Given the description of an element on the screen output the (x, y) to click on. 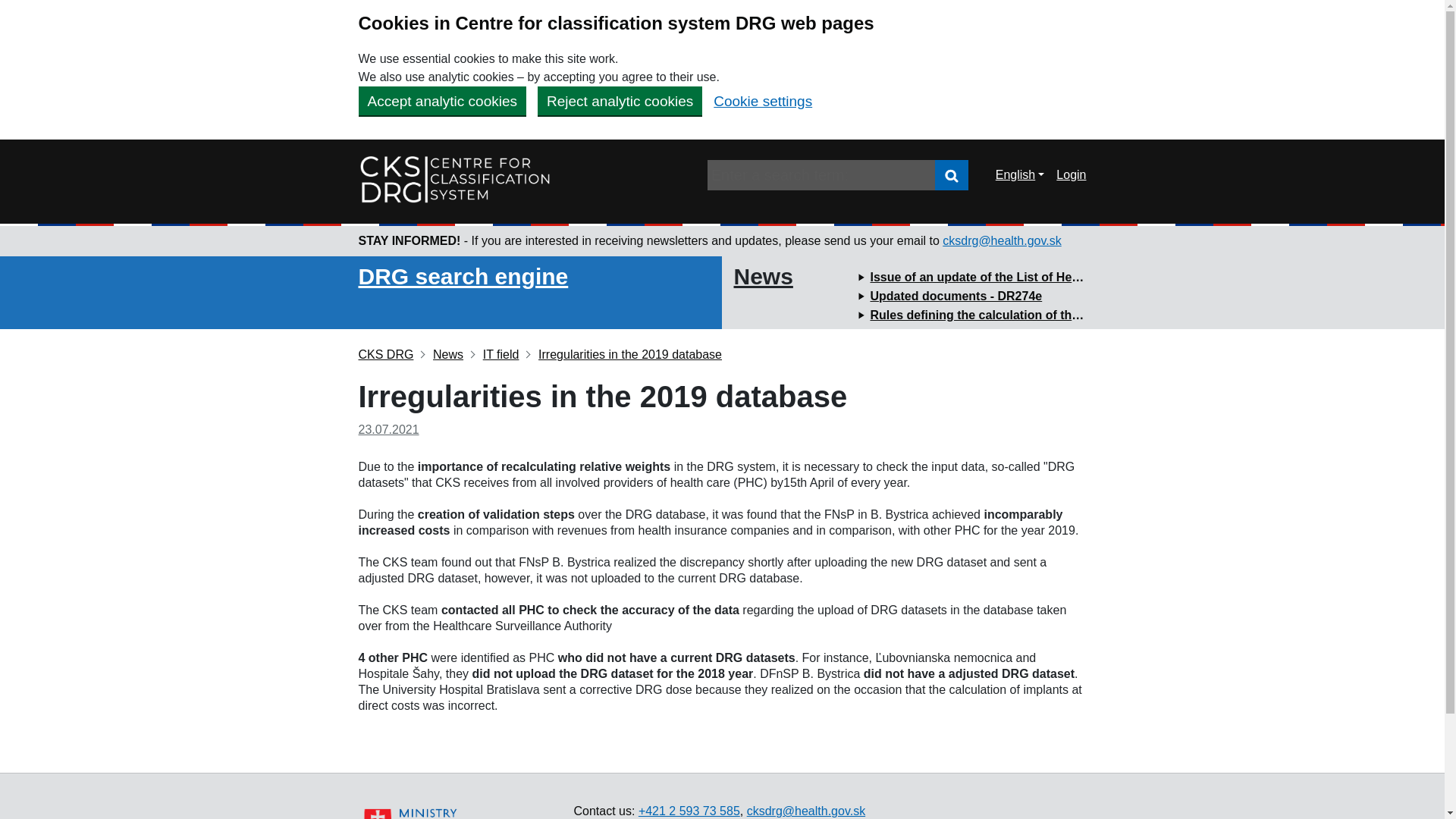
Updated documents - DR274e (955, 295)
CKS DRG (385, 354)
IT field (494, 354)
Issue of an update of the List of Health Procedures (1016, 277)
Reject analytic cookies (619, 100)
Skip to main content (11, 7)
IT field (494, 354)
Login (951, 174)
News (1071, 174)
Enter a search term: (763, 276)
Search (820, 174)
CKS DRG (951, 175)
